Given the description of an element on the screen output the (x, y) to click on. 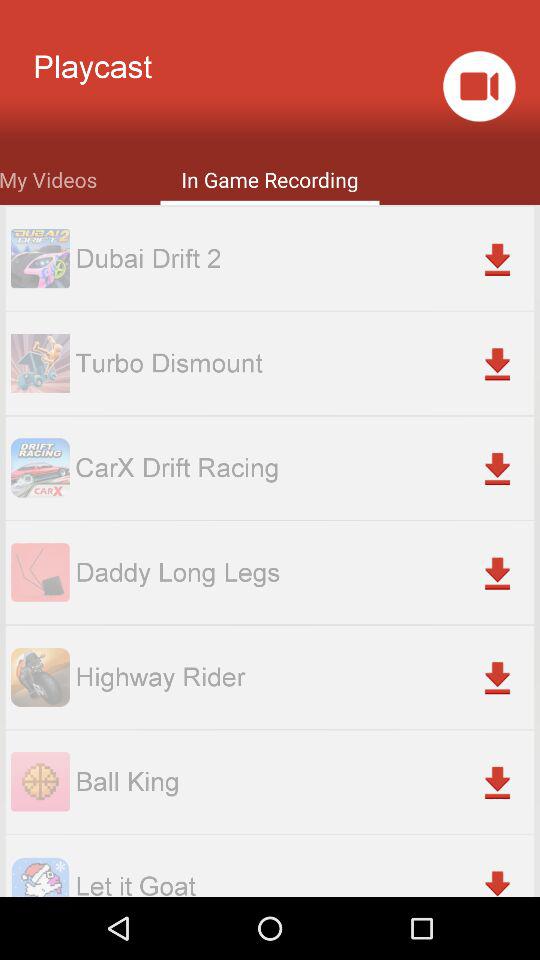
press the icon to the right of the playcast (478, 85)
